Given the description of an element on the screen output the (x, y) to click on. 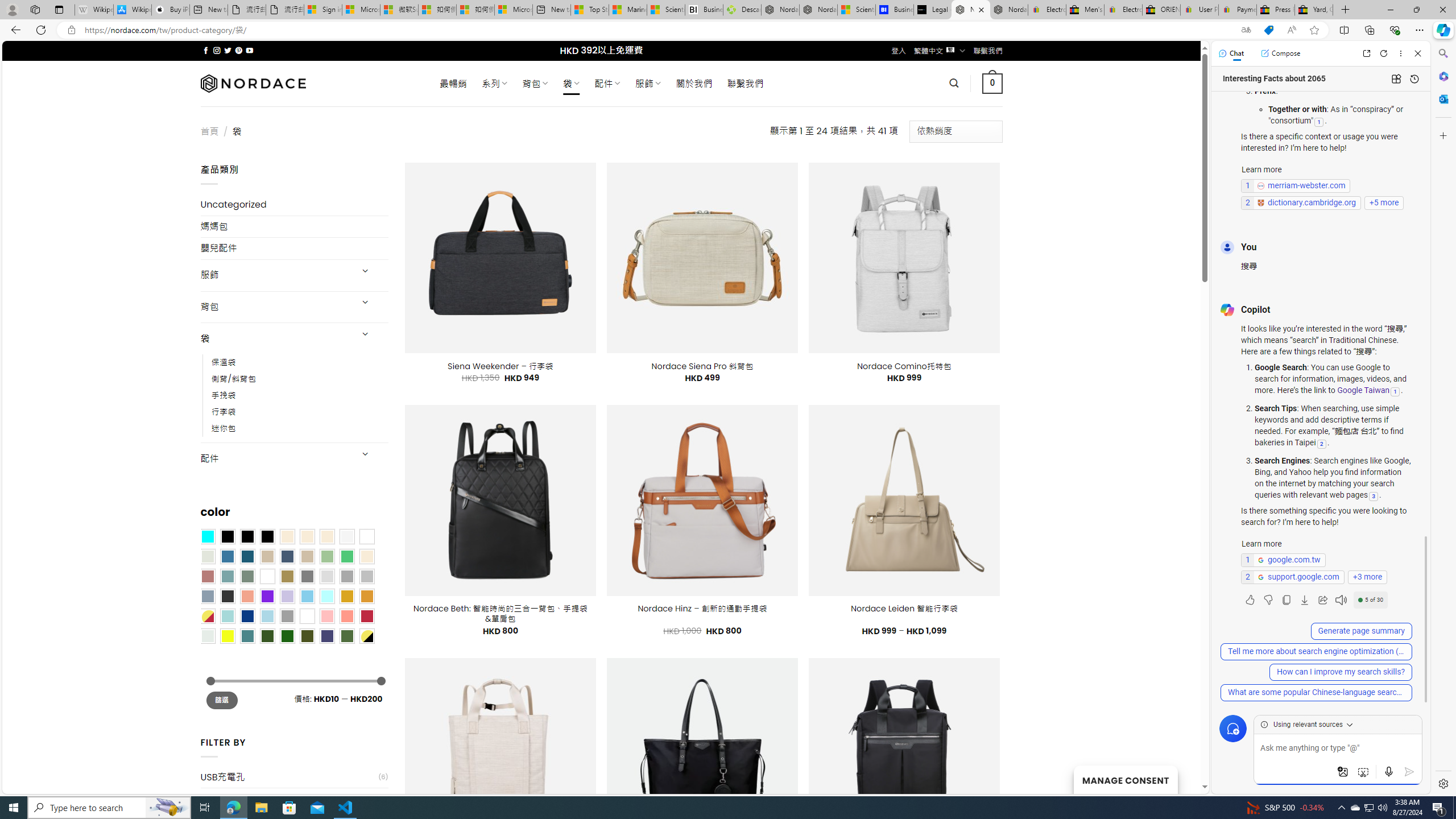
This site has coupons! Shopping in Microsoft Edge (1268, 29)
Follow on Facebook (205, 50)
